Given the description of an element on the screen output the (x, y) to click on. 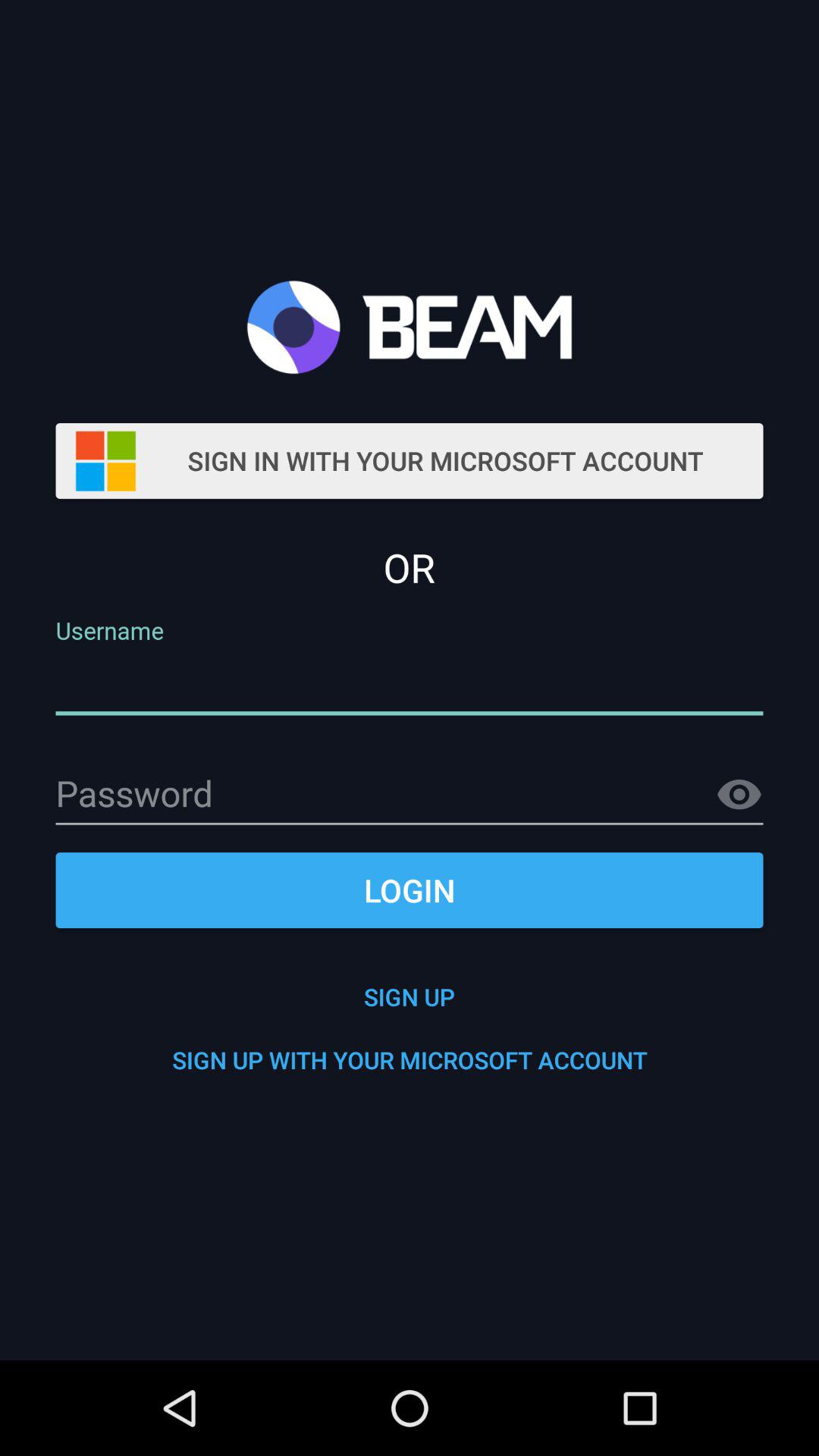
enter text (409, 795)
